Given the description of an element on the screen output the (x, y) to click on. 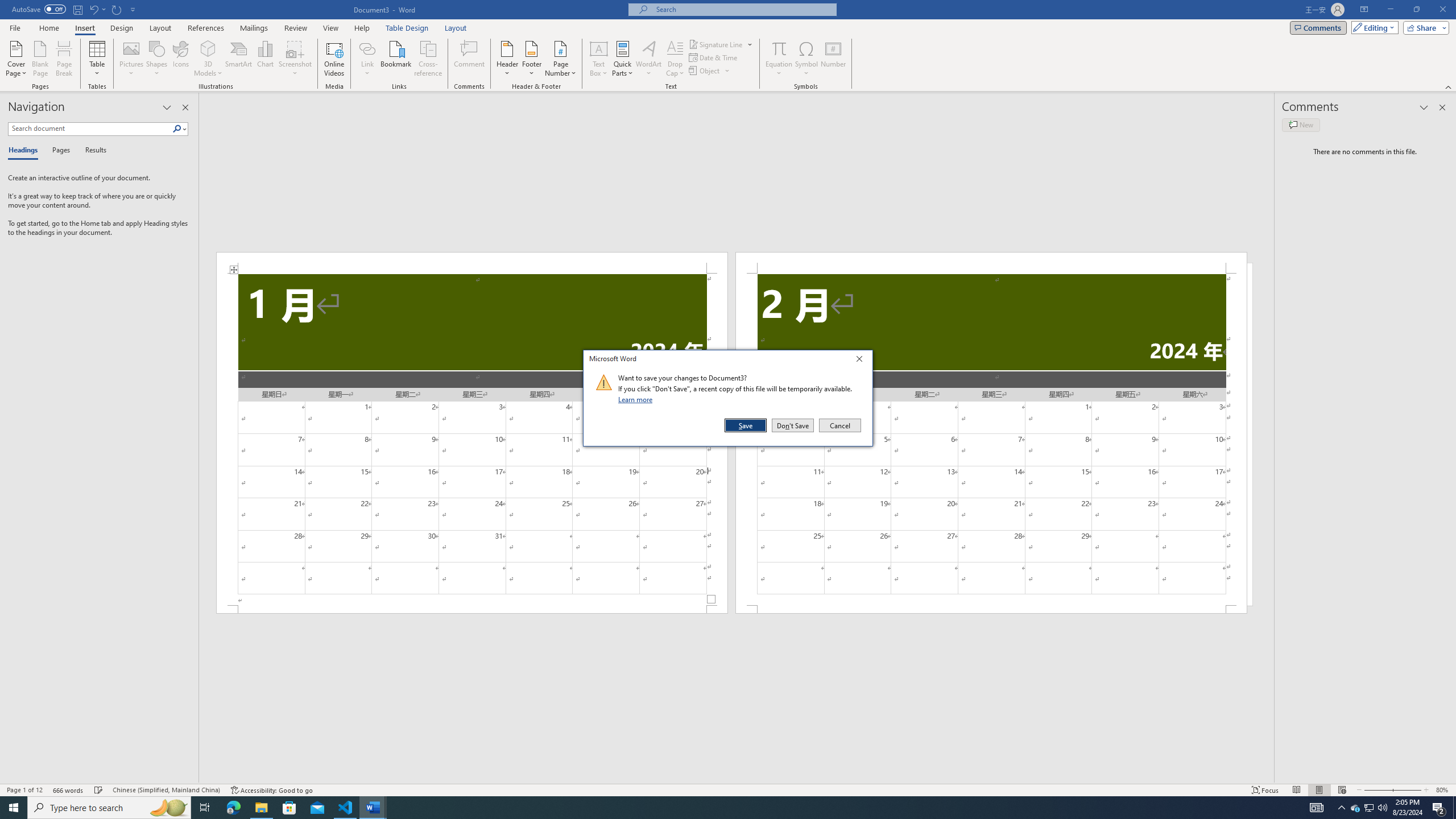
Word Count 666 words (68, 790)
Header -Section 1- (471, 263)
3D Models (208, 48)
Pages (59, 150)
Page Number (560, 58)
Signature Line (721, 44)
Headings (25, 150)
New comment (1300, 124)
Running applications (717, 807)
Spelling and Grammar Check Checking (98, 790)
Visual Studio Code - 1 running window (345, 807)
Table (97, 58)
Language Chinese (Simplified, Mainland China) (165, 790)
